Given the description of an element on the screen output the (x, y) to click on. 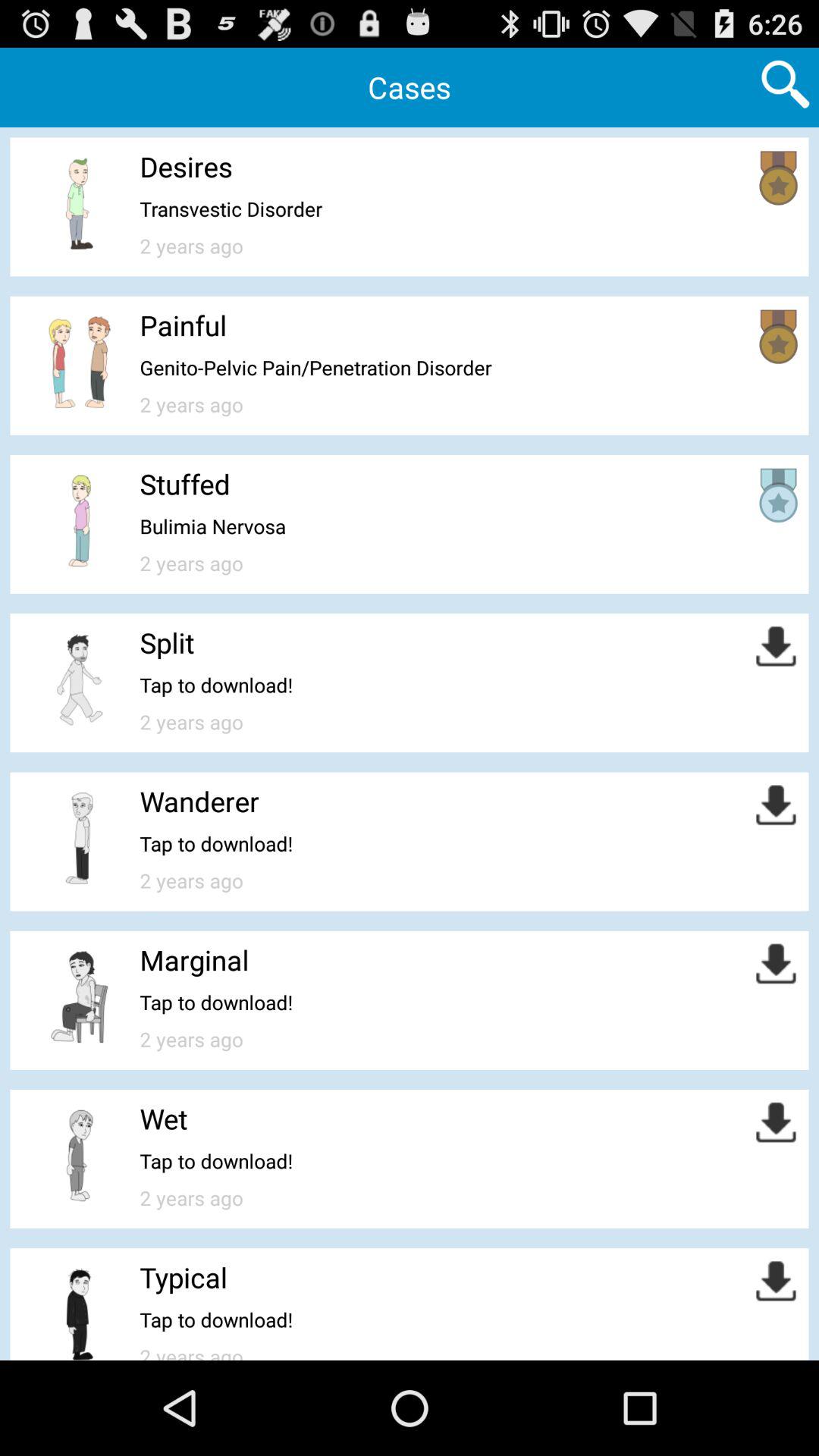
turn on the app above 2 years ago item (315, 367)
